Given the description of an element on the screen output the (x, y) to click on. 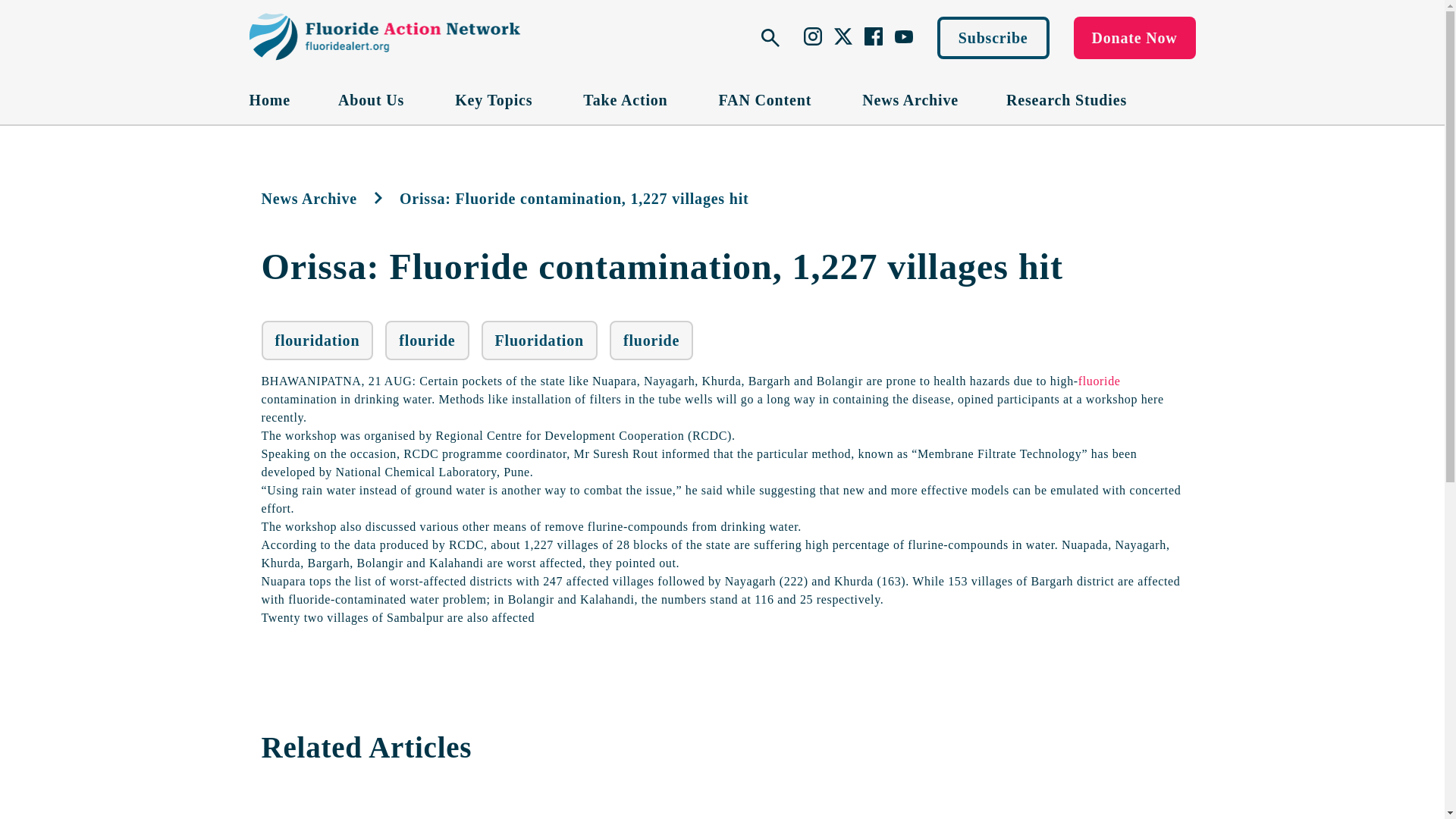
News Archive (909, 99)
Take Action (626, 99)
Subscribe (992, 37)
Donate Now (1134, 37)
Research Studies (1066, 99)
Subscribe (993, 37)
About Us (372, 99)
Orissa:  Fluoride contamination, 1,227 villages hit (661, 266)
Key Topics (494, 99)
FAN Content (767, 99)
Home (268, 99)
Donate Now (1134, 37)
